Given the description of an element on the screen output the (x, y) to click on. 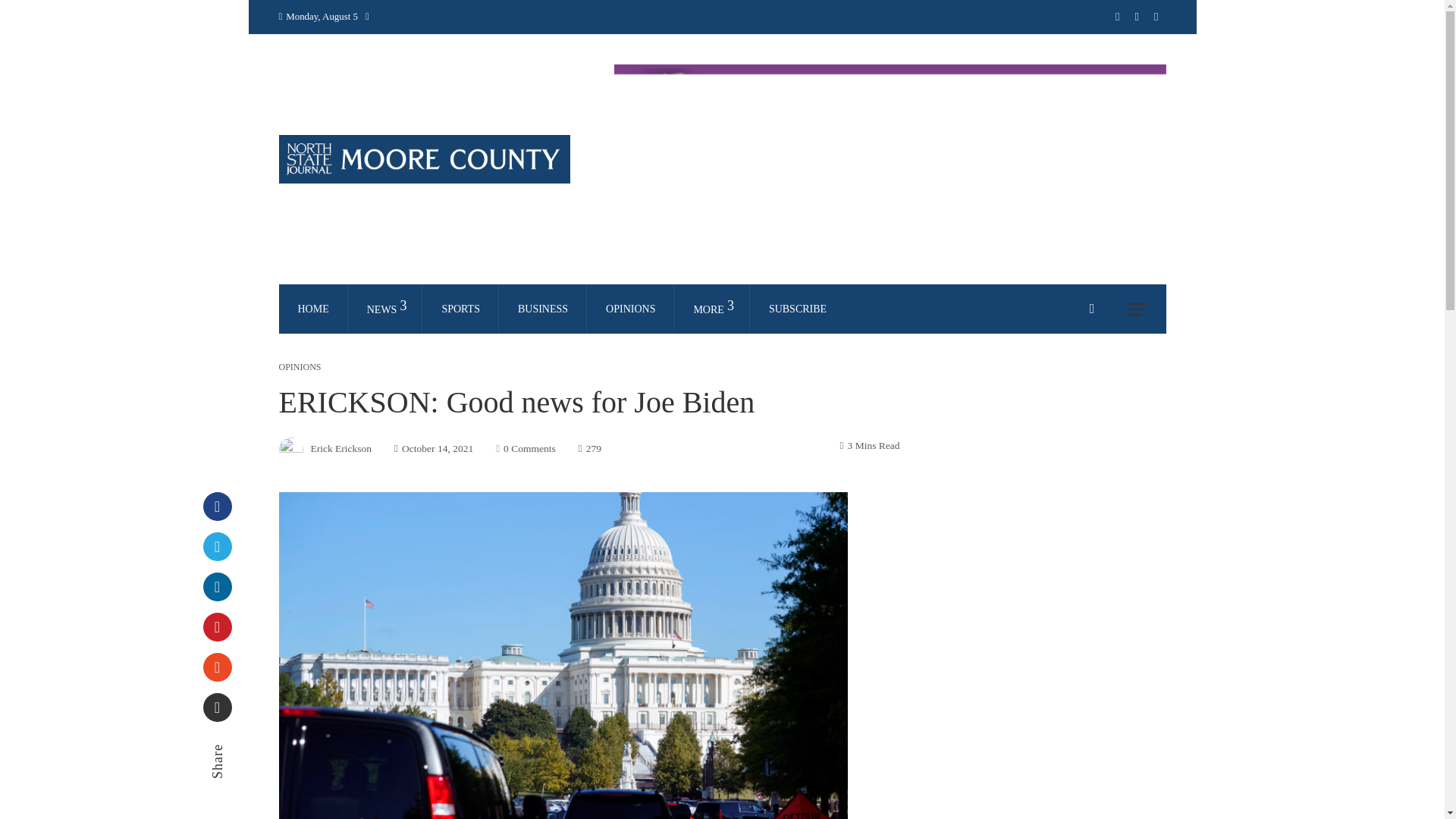
HOME (313, 308)
Stumbleupon (217, 666)
Pinterest (217, 626)
OPINIONS (300, 366)
LinkedIn (217, 586)
Twitter (217, 546)
OPINIONS (630, 308)
Facebook (217, 506)
NEWS (384, 309)
SUBSCRIBE (797, 308)
BUSINESS (542, 308)
Email (217, 706)
MORE (711, 309)
SPORTS (460, 308)
